Given the description of an element on the screen output the (x, y) to click on. 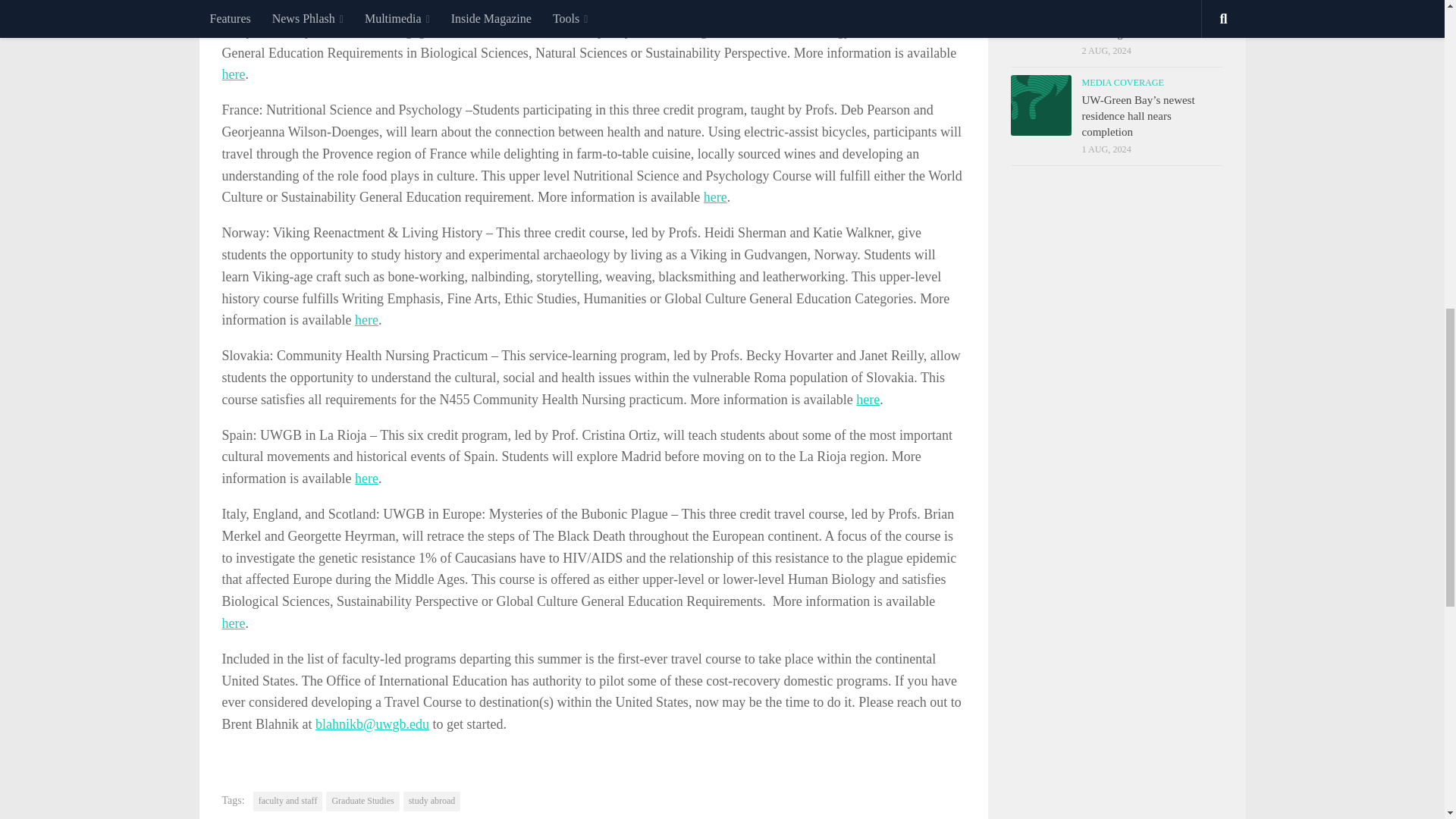
here (714, 196)
here (232, 622)
here (366, 478)
here (232, 73)
here (366, 319)
here (867, 399)
